Given the description of an element on the screen output the (x, y) to click on. 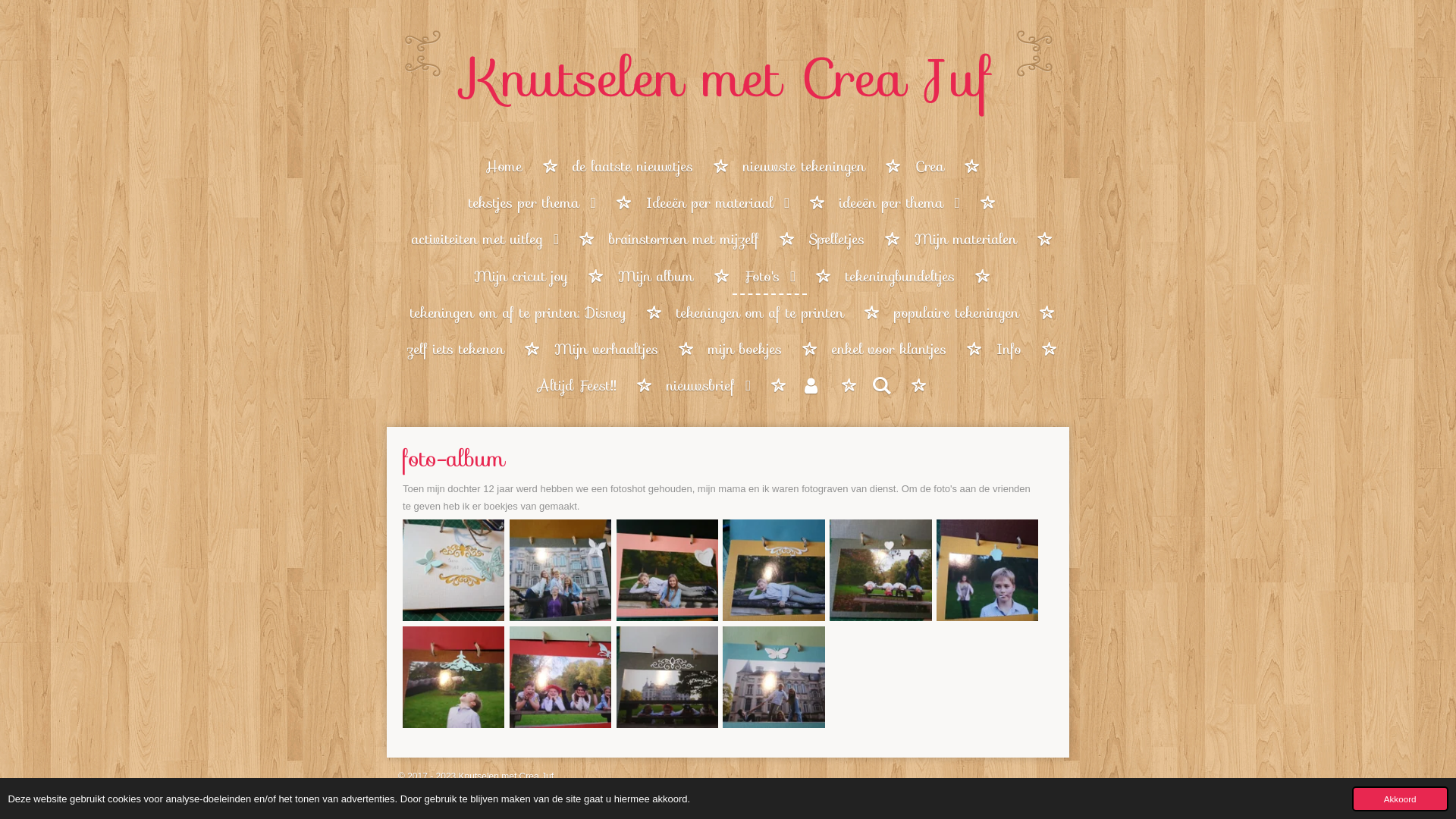
tekeningen om af te printen Element type: text (759, 312)
mijn boekjes Element type: text (744, 349)
enkel voor klantjes Element type: text (888, 349)
Spelletjes Element type: text (836, 239)
Altijd Feest!! Element type: text (576, 385)
Foto's Element type: text (769, 276)
populaire tekeningen Element type: text (956, 312)
Home Element type: text (503, 166)
activiteiten met uitleg Element type: text (485, 239)
Crea Element type: text (929, 166)
tekeningbundeltjes Element type: text (900, 276)
Knutselen met Crea Juf Element type: text (728, 86)
nieuwsbrief Element type: text (708, 385)
Info Element type: text (1008, 349)
de laatste nieuwtjes Element type: text (632, 166)
tekeningen om af te printen: Disney Element type: text (517, 312)
Mijn album Element type: text (655, 276)
brainstormen met mijzelf Element type: text (683, 239)
zelf iets tekenen Element type: text (455, 349)
Akkoord Element type: text (1400, 798)
Mijn materialen Element type: text (965, 239)
Mijn cricut joy Element type: text (520, 276)
Zoeken Element type: hover (881, 385)
Account Element type: hover (810, 385)
Mijn verhaaltjes Element type: text (605, 349)
nieuwste tekeningen Element type: text (803, 166)
tekstjes per thema Element type: text (532, 203)
